Given the description of an element on the screen output the (x, y) to click on. 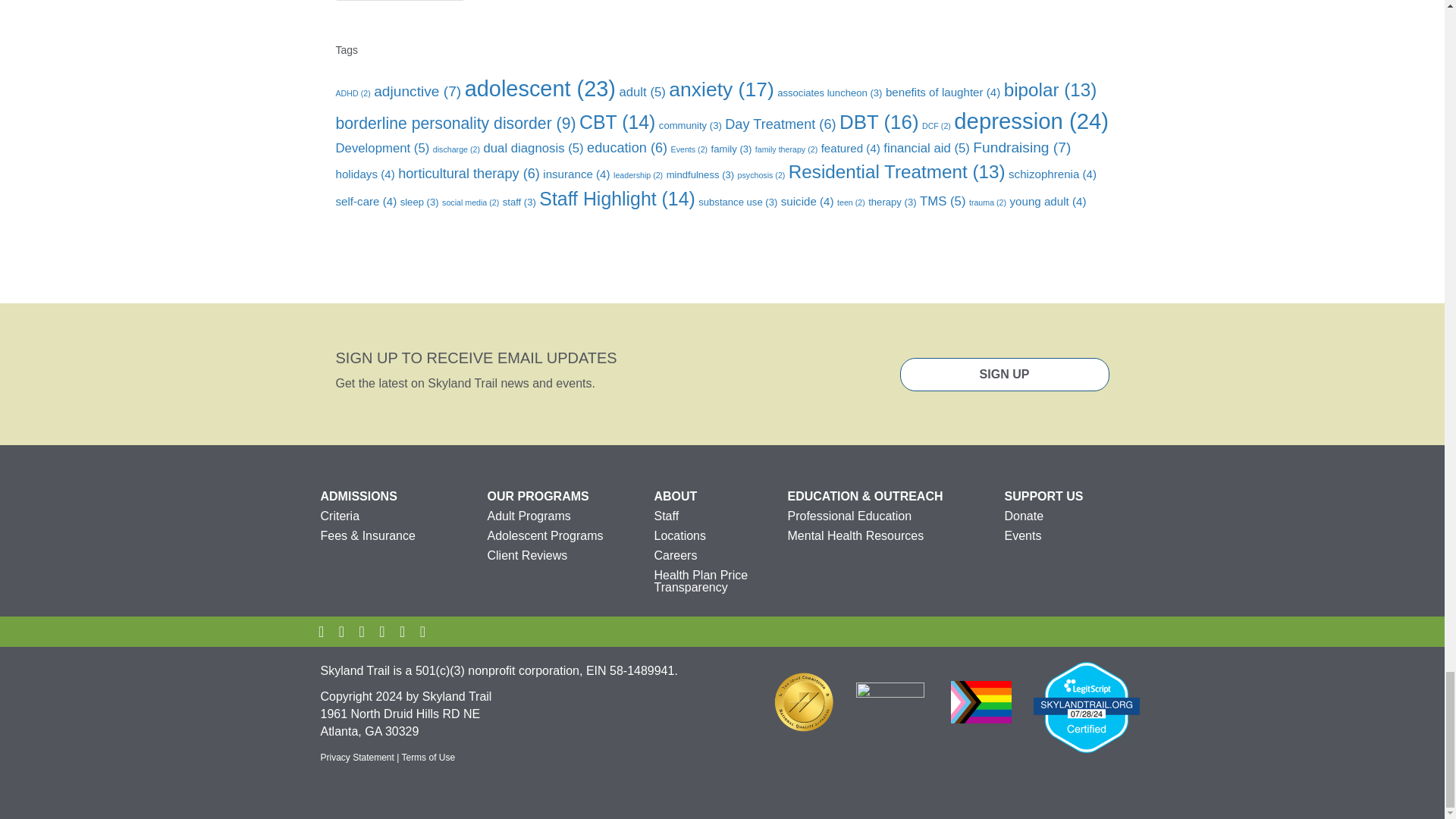
Verify LegitScript Approval (1085, 707)
